Given the description of an element on the screen output the (x, y) to click on. 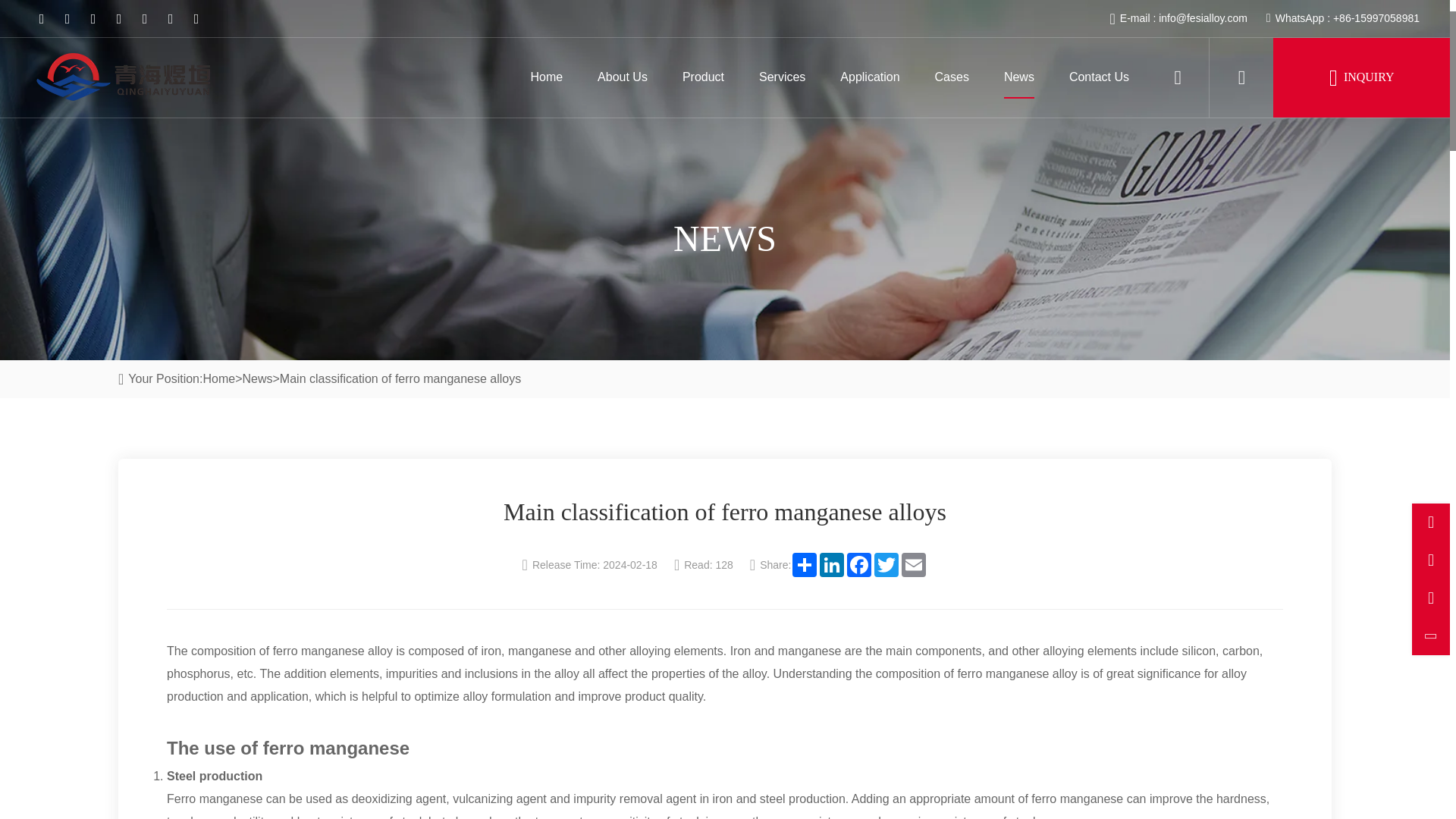
Services (781, 77)
Application (869, 77)
News (256, 379)
Contact Us (1098, 77)
Product (702, 77)
Home (545, 77)
News (1018, 77)
About Us (621, 77)
Main classification of ferro manganese alloys. (400, 379)
Cases (951, 77)
